Given the description of an element on the screen output the (x, y) to click on. 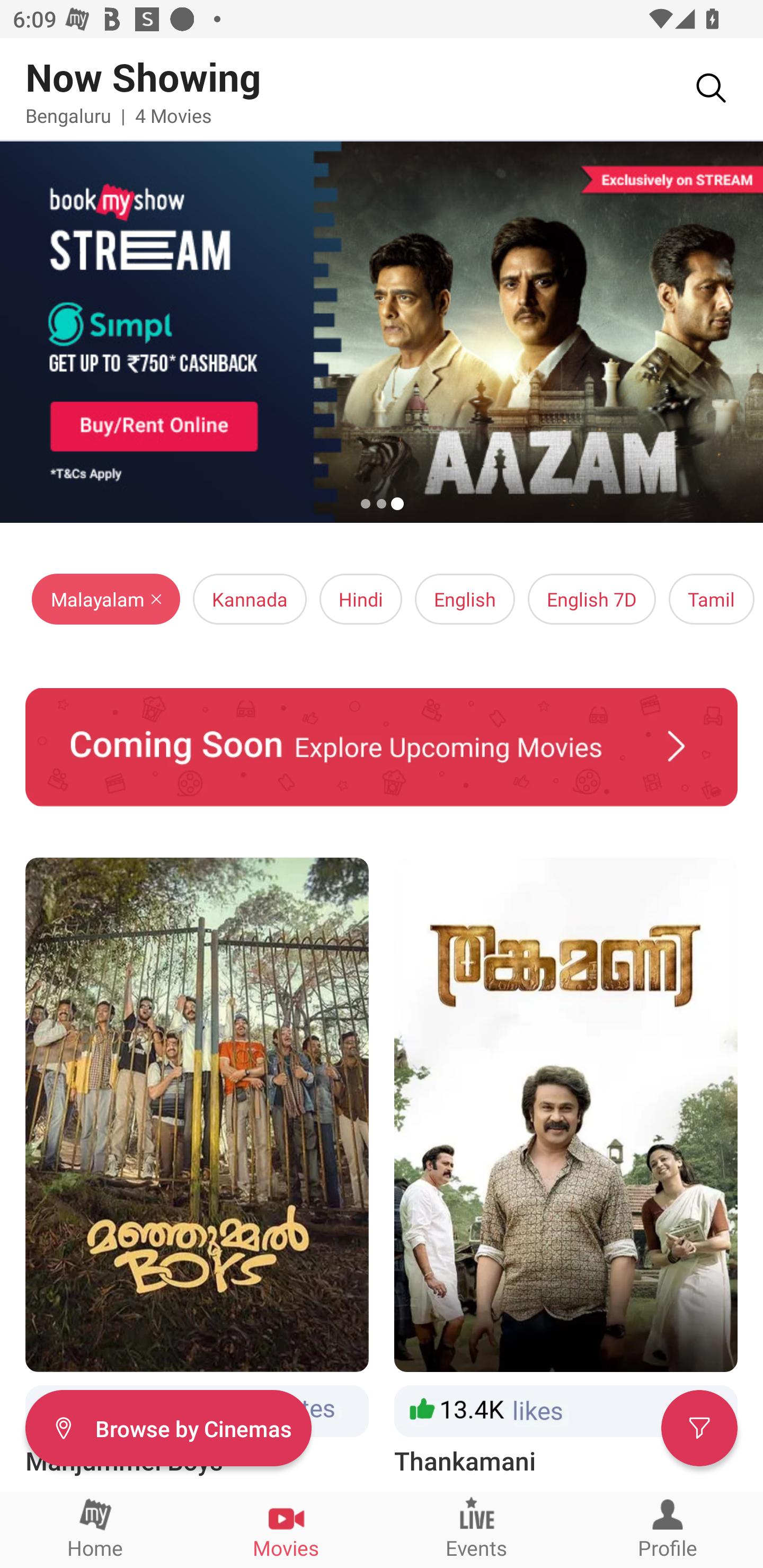
Bengaluru  |  4 Movies (118, 114)
Malayalam Close (106, 598)
Kannada (249, 598)
Hindi (360, 598)
English (465, 598)
English 7D (591, 598)
Tamil (711, 598)
Manjummel Boys (196, 1167)
Thankamani (565, 1167)
Filter Browse by Cinemas (168, 1427)
Filter (699, 1427)
Home (95, 1529)
Movies (285, 1529)
Events (476, 1529)
Profile (667, 1529)
